Given the description of an element on the screen output the (x, y) to click on. 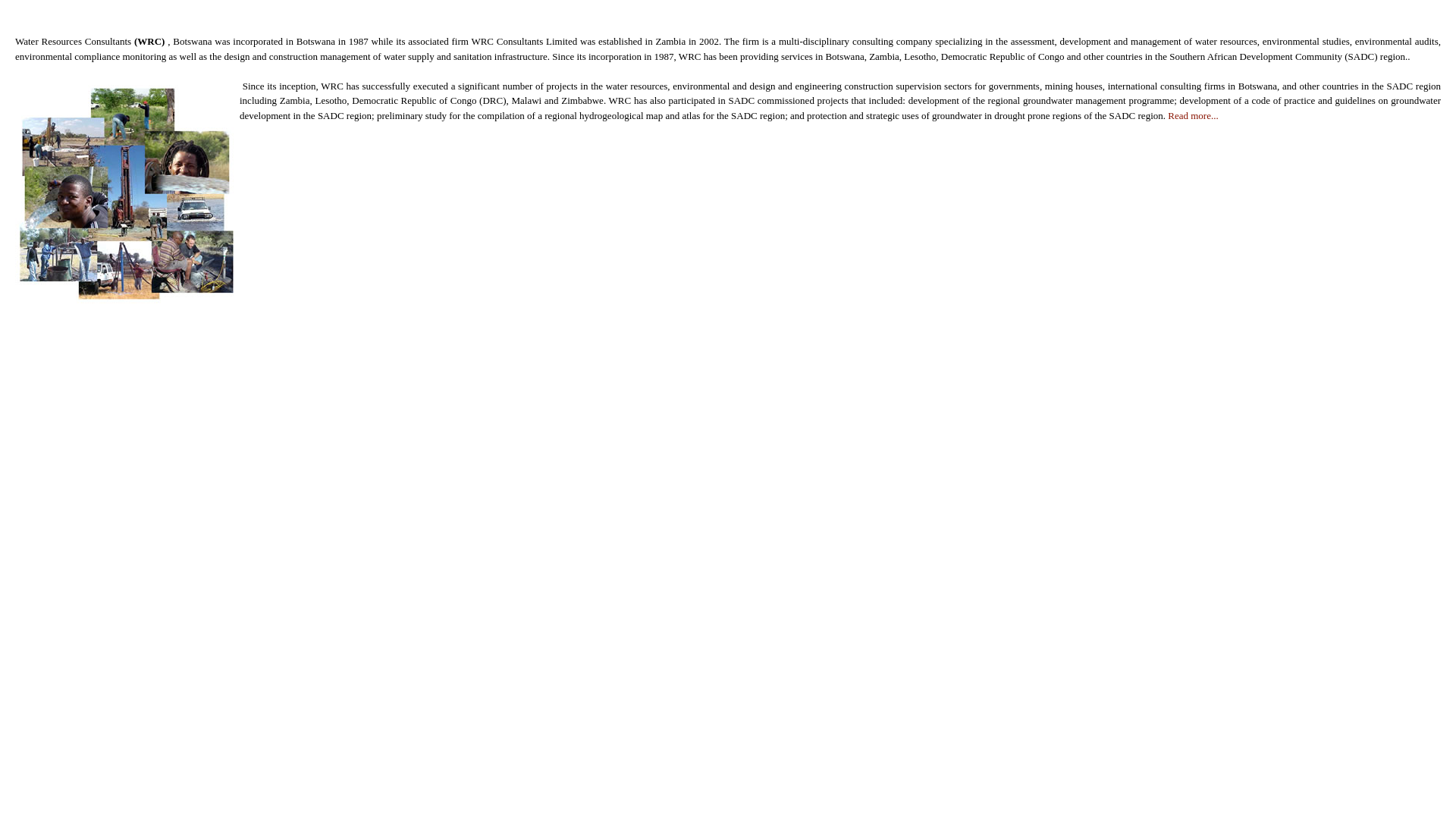
Read more... Element type: text (1192, 114)
